Given the description of an element on the screen output the (x, y) to click on. 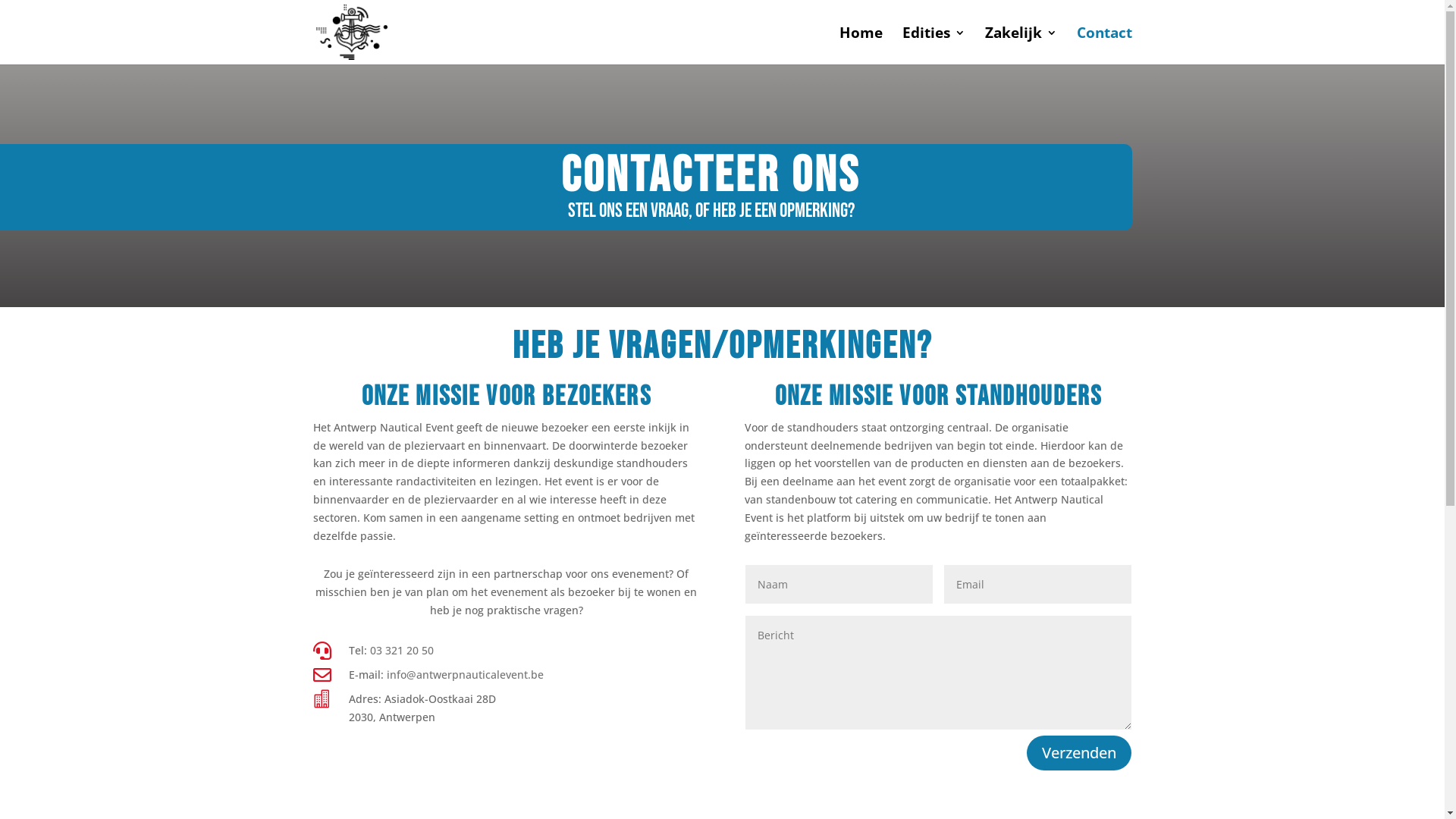
03 321 20 50 Element type: text (401, 650)
Contact Element type: text (1104, 46)
Home Element type: text (859, 46)
Verzenden Element type: text (1078, 752)
info@antwerpnauticalevent.be Element type: text (464, 674)
Edities Element type: text (933, 46)
Zakelijk Element type: text (1020, 46)
